Given the description of an element on the screen output the (x, y) to click on. 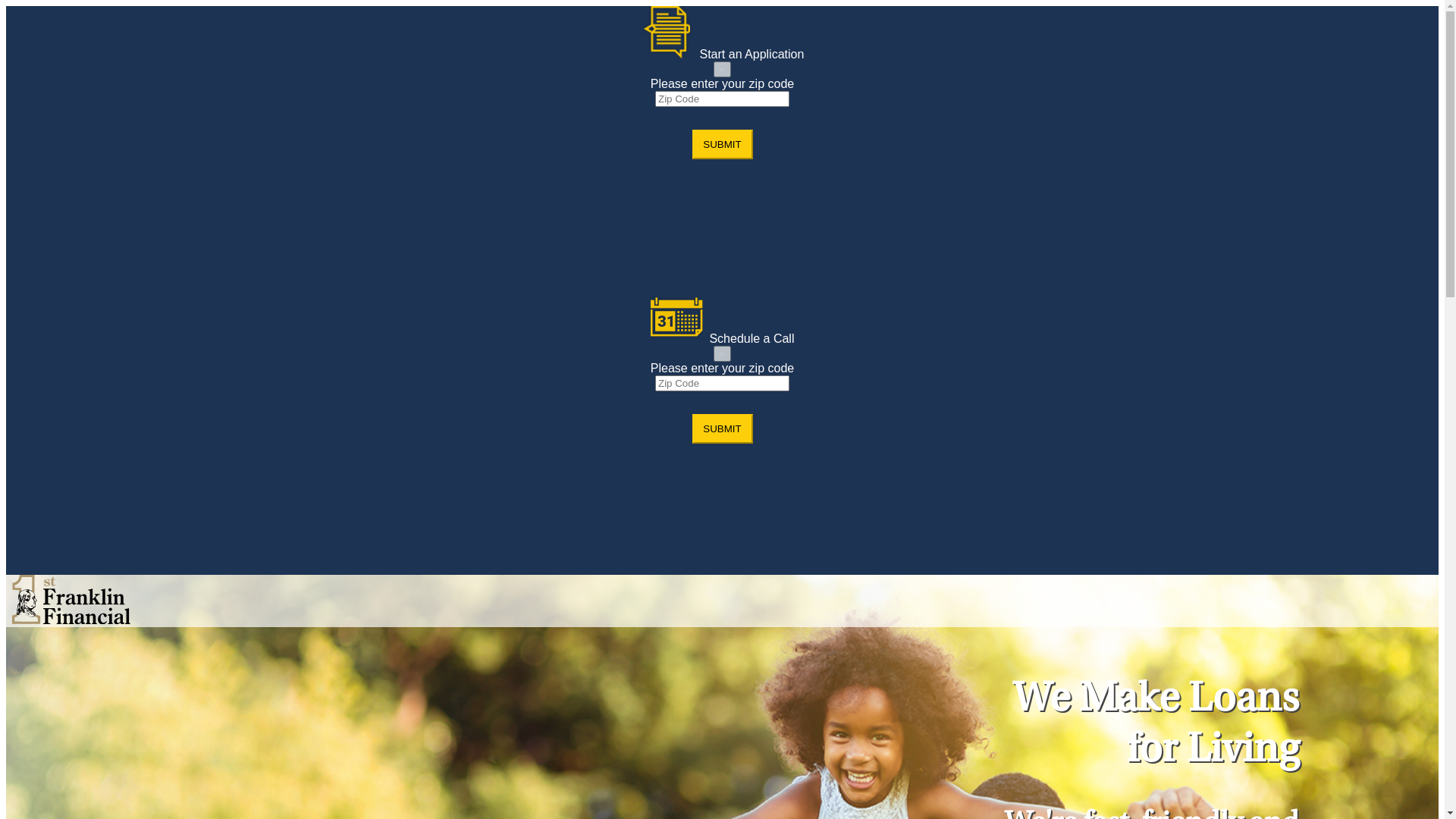
SUBMIT Element type: text (721, 428)
 US Zip Code Element type: hover (722, 98)
 US Zip Code Element type: hover (722, 383)
SUBMIT Element type: text (721, 144)
